Given the description of an element on the screen output the (x, y) to click on. 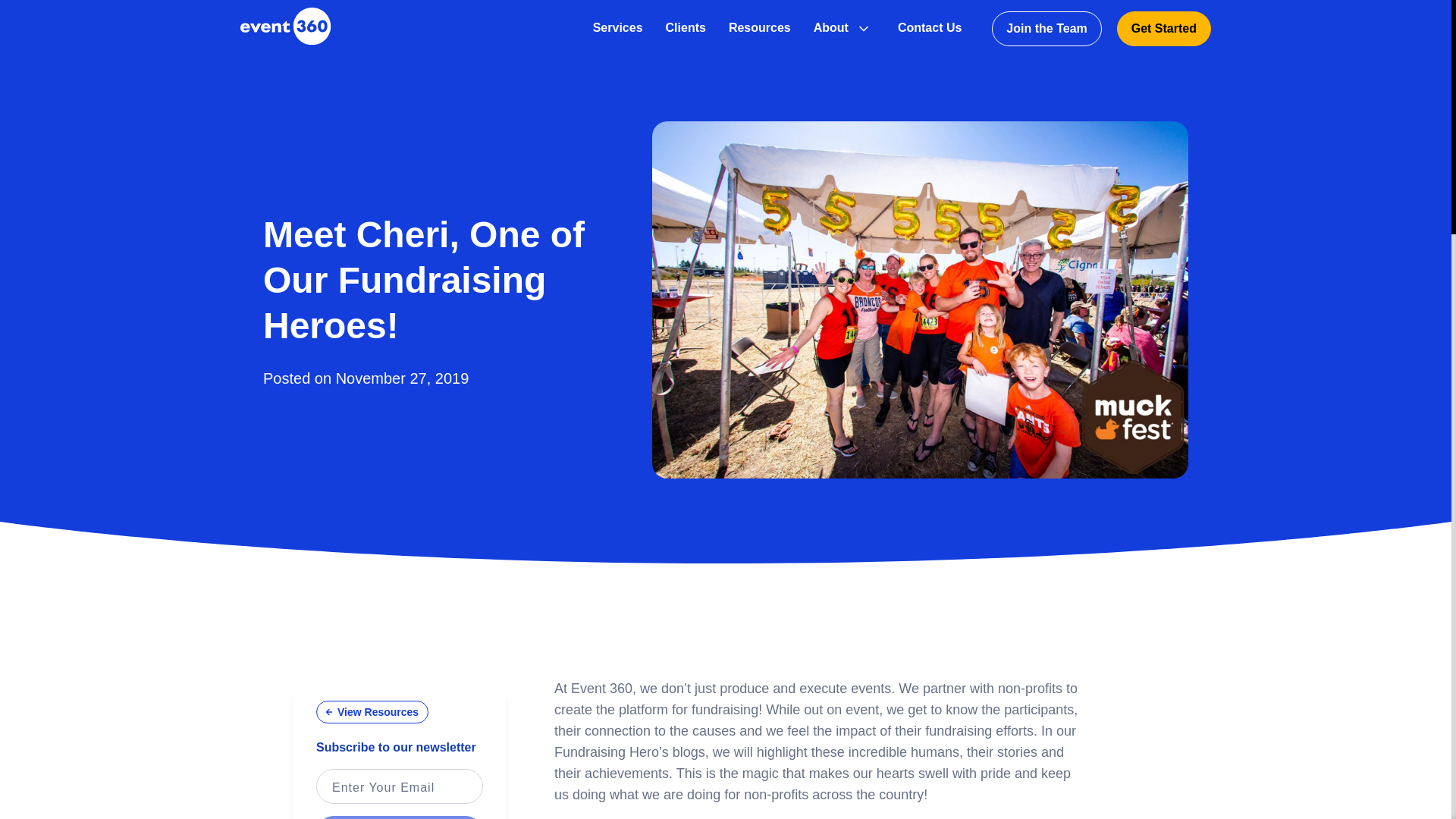
Get Started (1163, 28)
Clients (685, 28)
Contact Us (929, 28)
SUBSCRIBE (399, 817)
Join the Team (1045, 28)
Resources (759, 28)
About (830, 28)
View Resources (371, 712)
Services (617, 28)
